Given the description of an element on the screen output the (x, y) to click on. 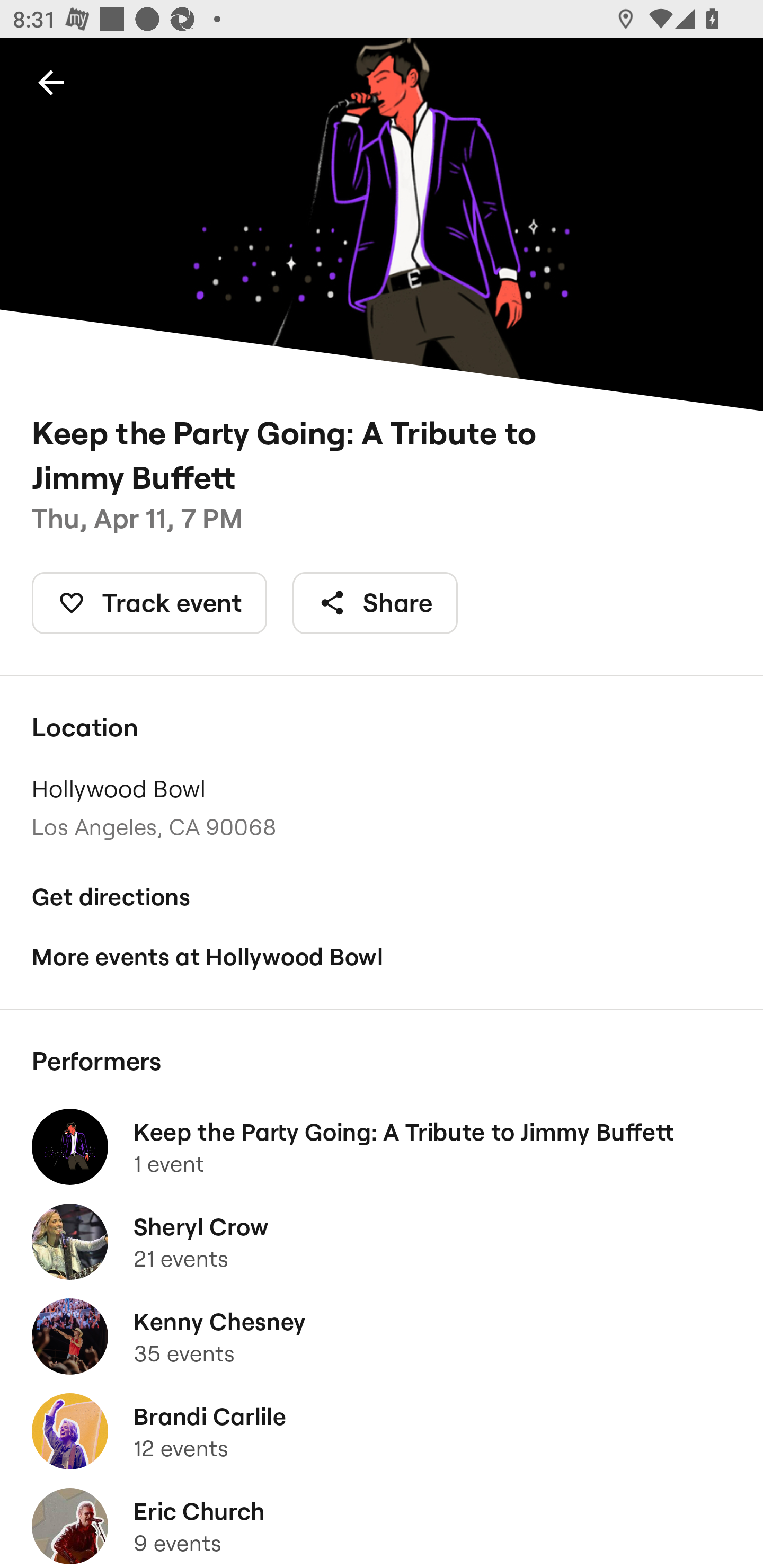
Back (50, 81)
Track event (149, 602)
Share (374, 602)
Get directions (381, 896)
More events at Hollywood Bowl (381, 956)
Sheryl Crow 21 events (381, 1241)
Kenny Chesney 35 events (381, 1336)
Brandi Carlile 12 events (381, 1431)
Eric Church 9 events (381, 1523)
